Given the description of an element on the screen output the (x, y) to click on. 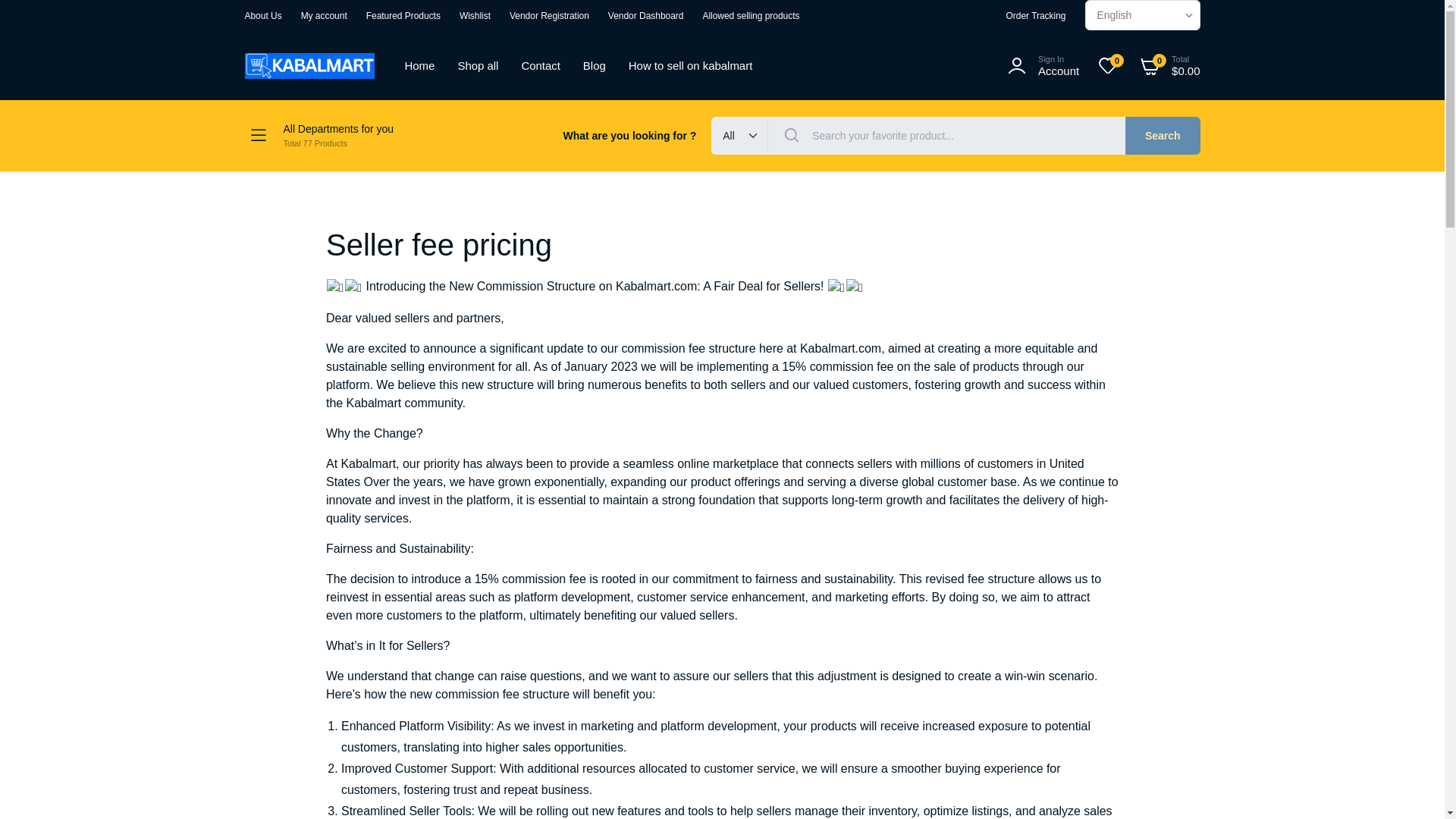
About Us (262, 15)
My account (324, 15)
Vendor Dashboard (646, 15)
How to sell on kabalmart (690, 65)
Featured Products (403, 15)
Wishlist (475, 15)
Allowed selling products (354, 135)
0 (750, 15)
